Given the description of an element on the screen output the (x, y) to click on. 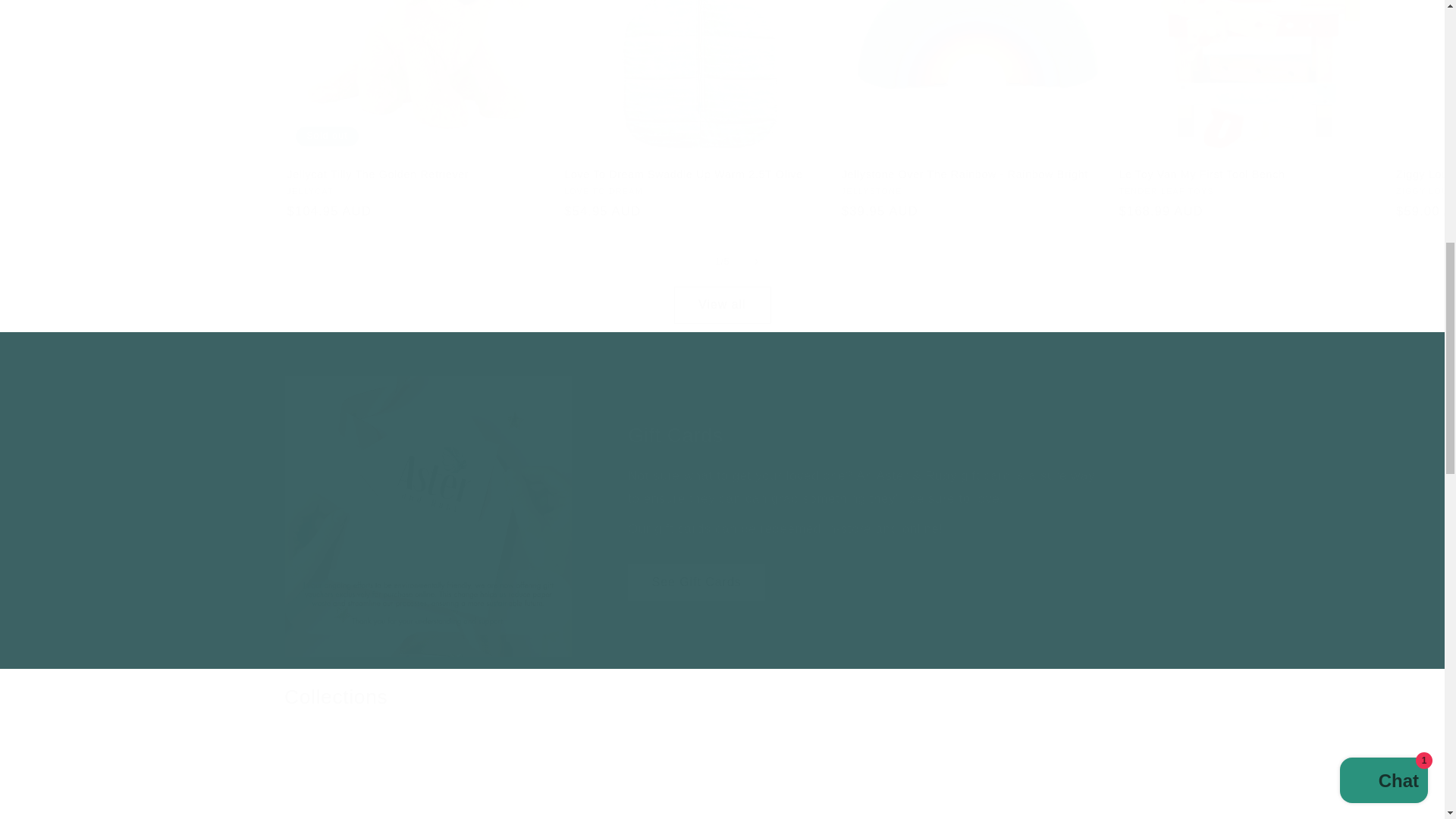
Sale (1016, 784)
Collections (335, 697)
For Mum (721, 776)
For Baby (722, 784)
